Given the description of an element on the screen output the (x, y) to click on. 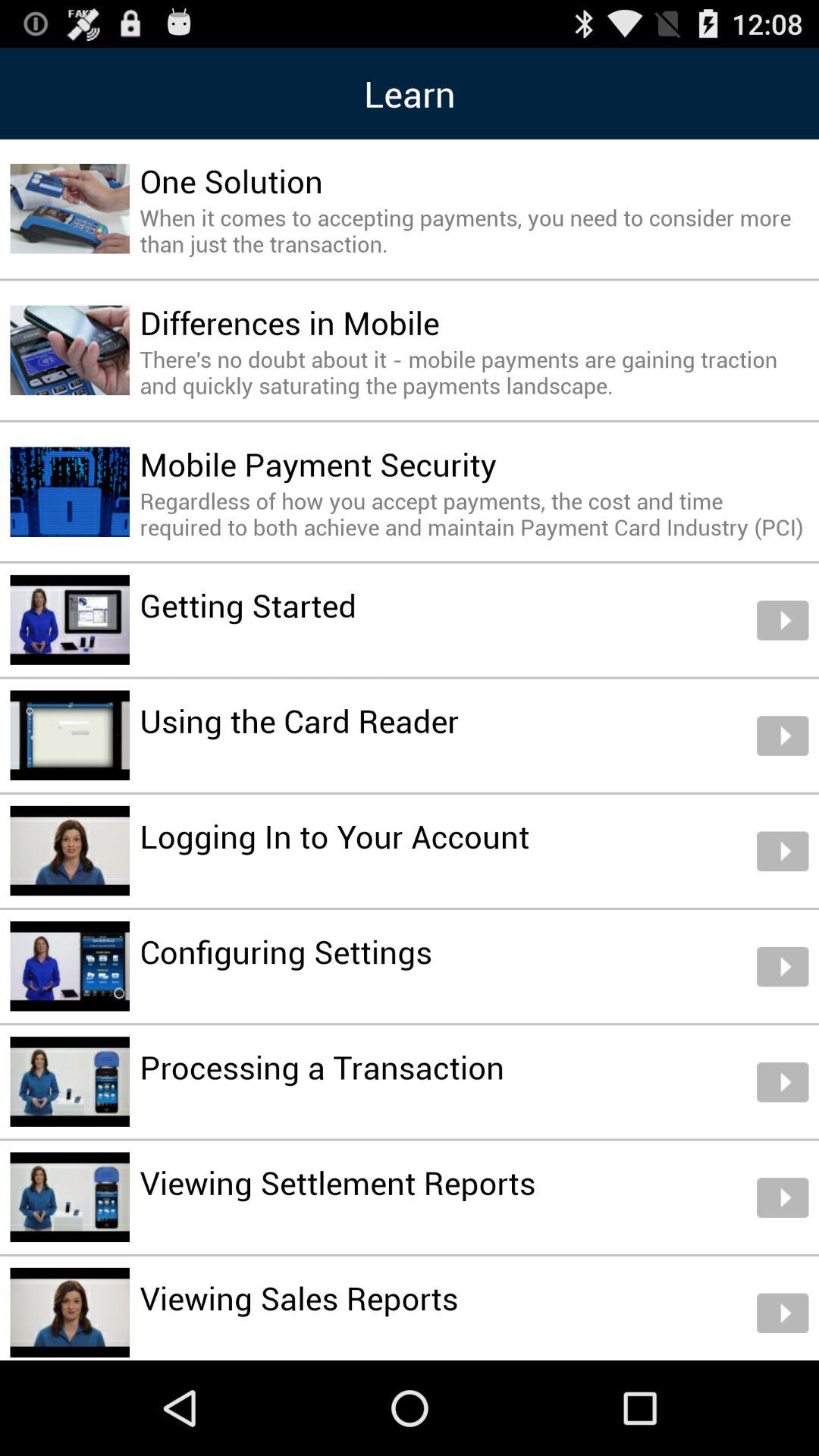
tap icon below the logging in to icon (285, 951)
